Given the description of an element on the screen output the (x, y) to click on. 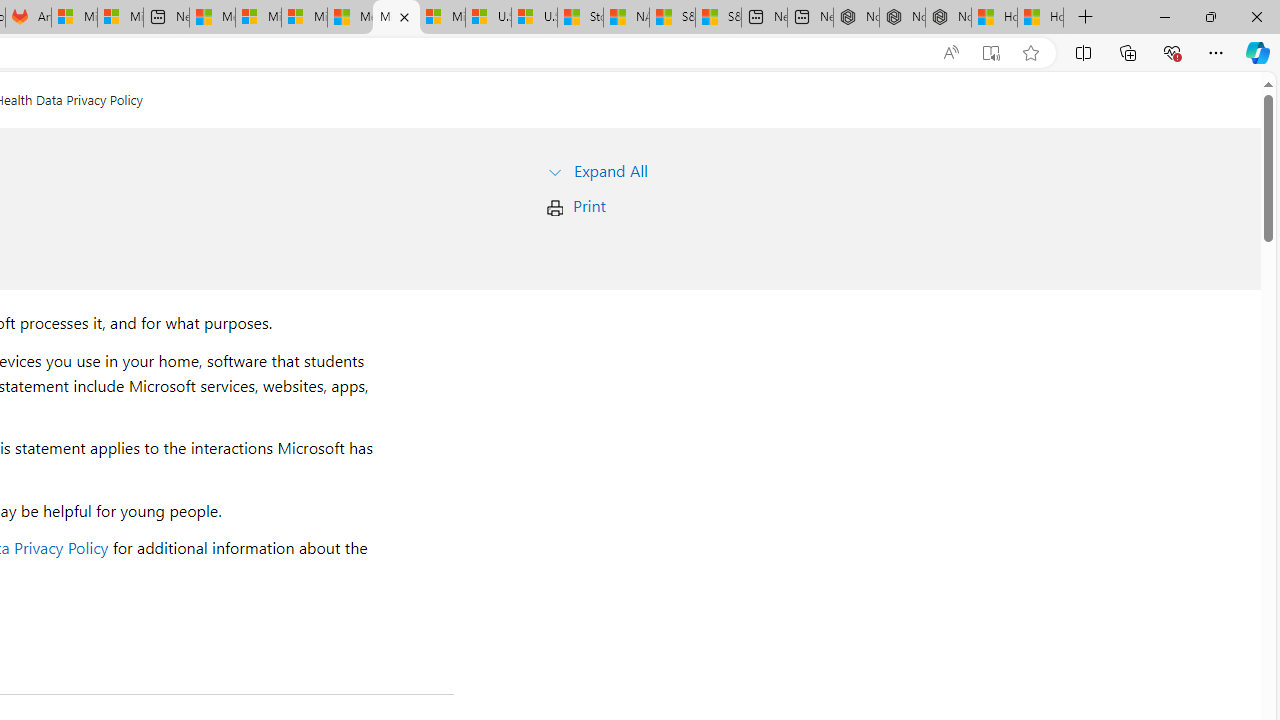
Microsoft account | Privacy (258, 17)
Collections (1128, 52)
New tab (810, 17)
Expand All (610, 170)
Copilot (Ctrl+Shift+.) (1258, 52)
New Tab (1085, 17)
Split screen (1083, 52)
Settings and more (Alt+F) (1215, 52)
Add this page to favorites (Ctrl+D) (1030, 53)
Close (1256, 16)
Restore (1210, 16)
